Given the description of an element on the screen output the (x, y) to click on. 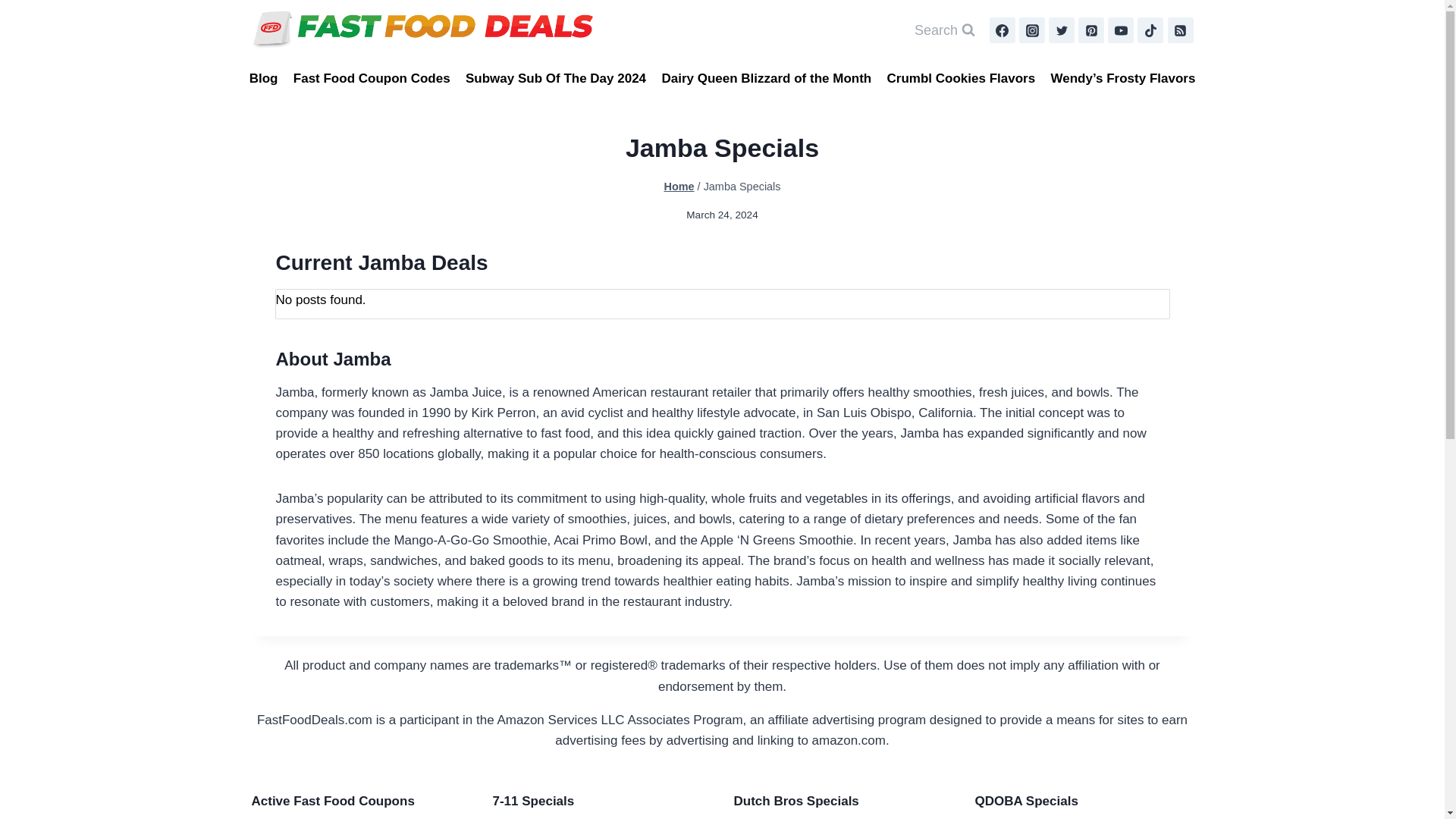
Dairy Queen Blizzard of the Month (766, 78)
Crumbl Cookies Flavors (360, 816)
Search (944, 30)
Home (678, 186)
7-11 Specials (602, 801)
Fast Food Coupon Codes (371, 78)
Crumbl Cookies Flavors (960, 78)
Active Fast Food Coupons (360, 801)
Subway Sub Of The Day 2024 (555, 78)
Blog (263, 78)
